Given the description of an element on the screen output the (x, y) to click on. 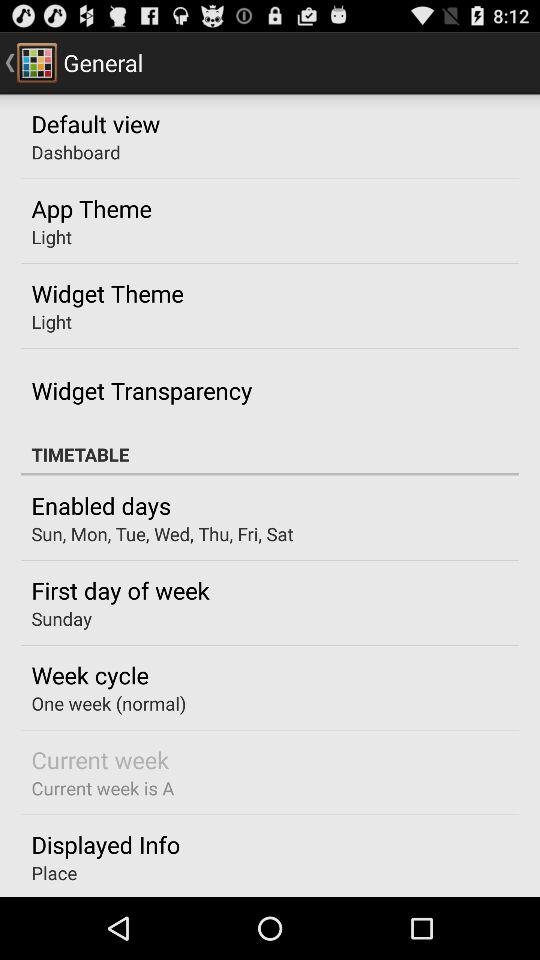
launch app theme item (91, 208)
